Given the description of an element on the screen output the (x, y) to click on. 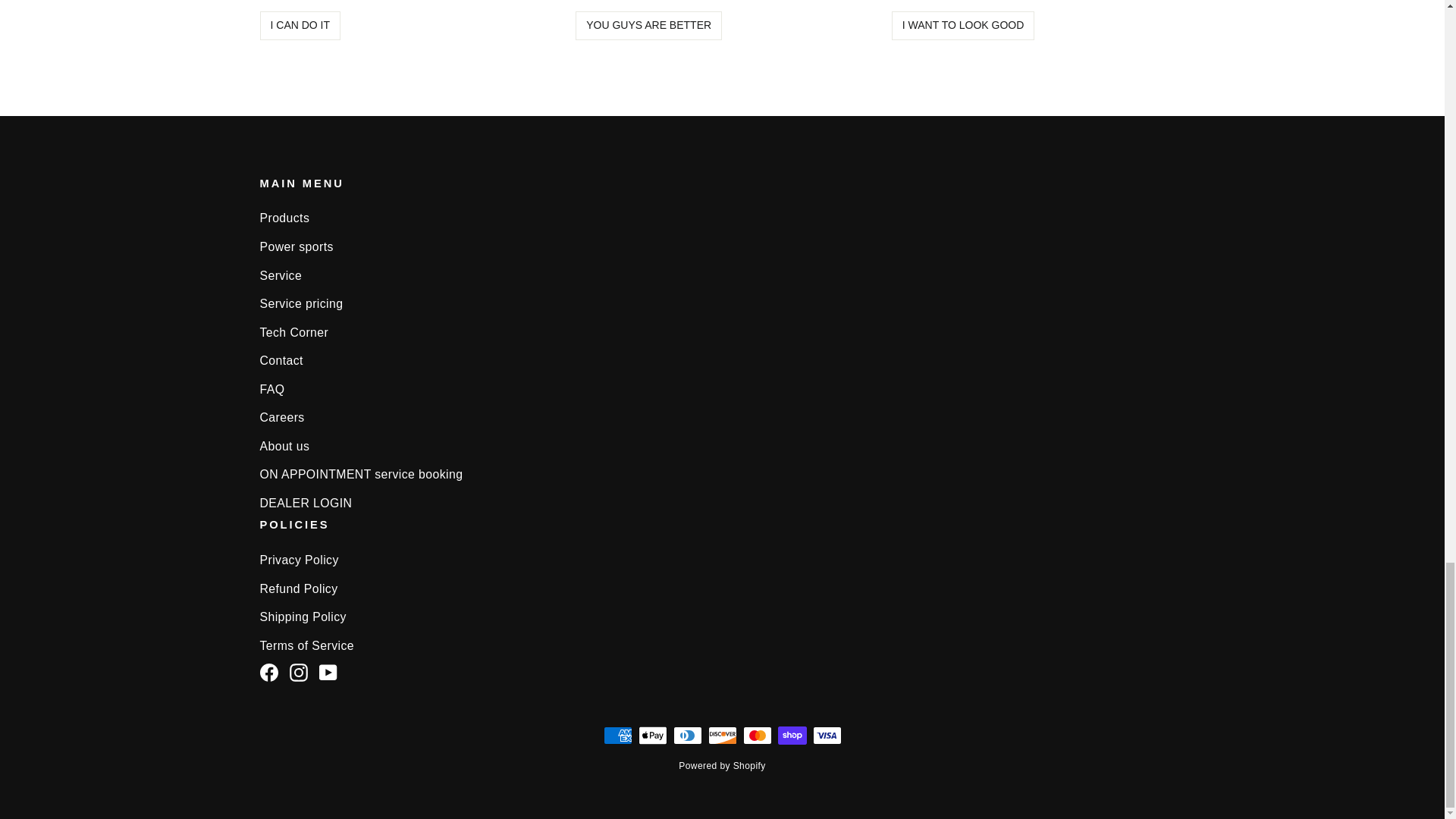
Apple Pay (652, 735)
Diners Club (686, 735)
S4 Suspension on Instagram (298, 670)
Discover (721, 735)
American Express (617, 735)
Shop Pay (791, 735)
Mastercard (756, 735)
S4 Suspension on YouTube (327, 670)
